Given the description of an element on the screen output the (x, y) to click on. 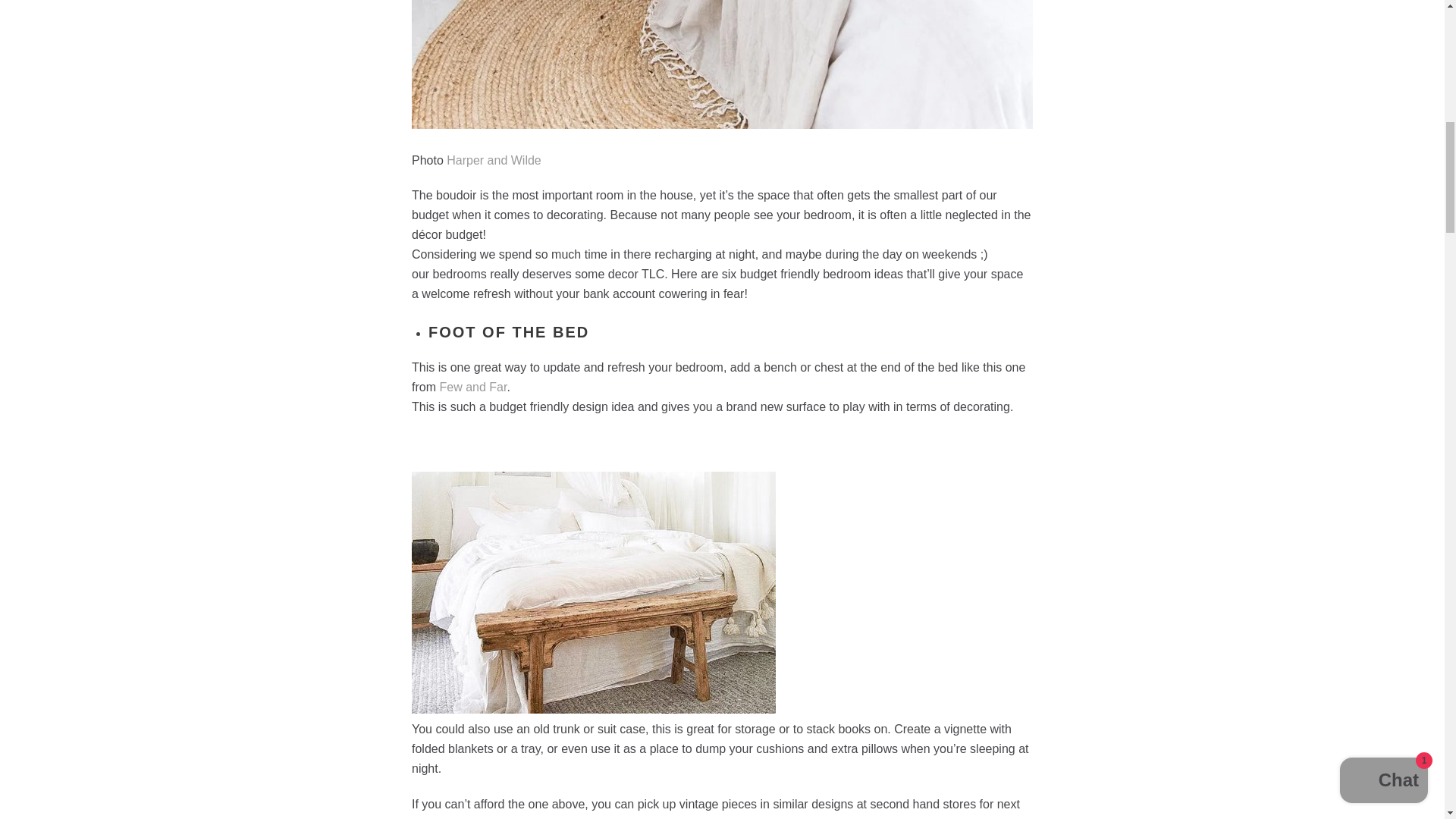
Few and Far (472, 386)
bedroom decor quilt cover pillowslips LOOM LIVING (493, 160)
Harper and Wilde (493, 160)
